Given the description of an element on the screen output the (x, y) to click on. 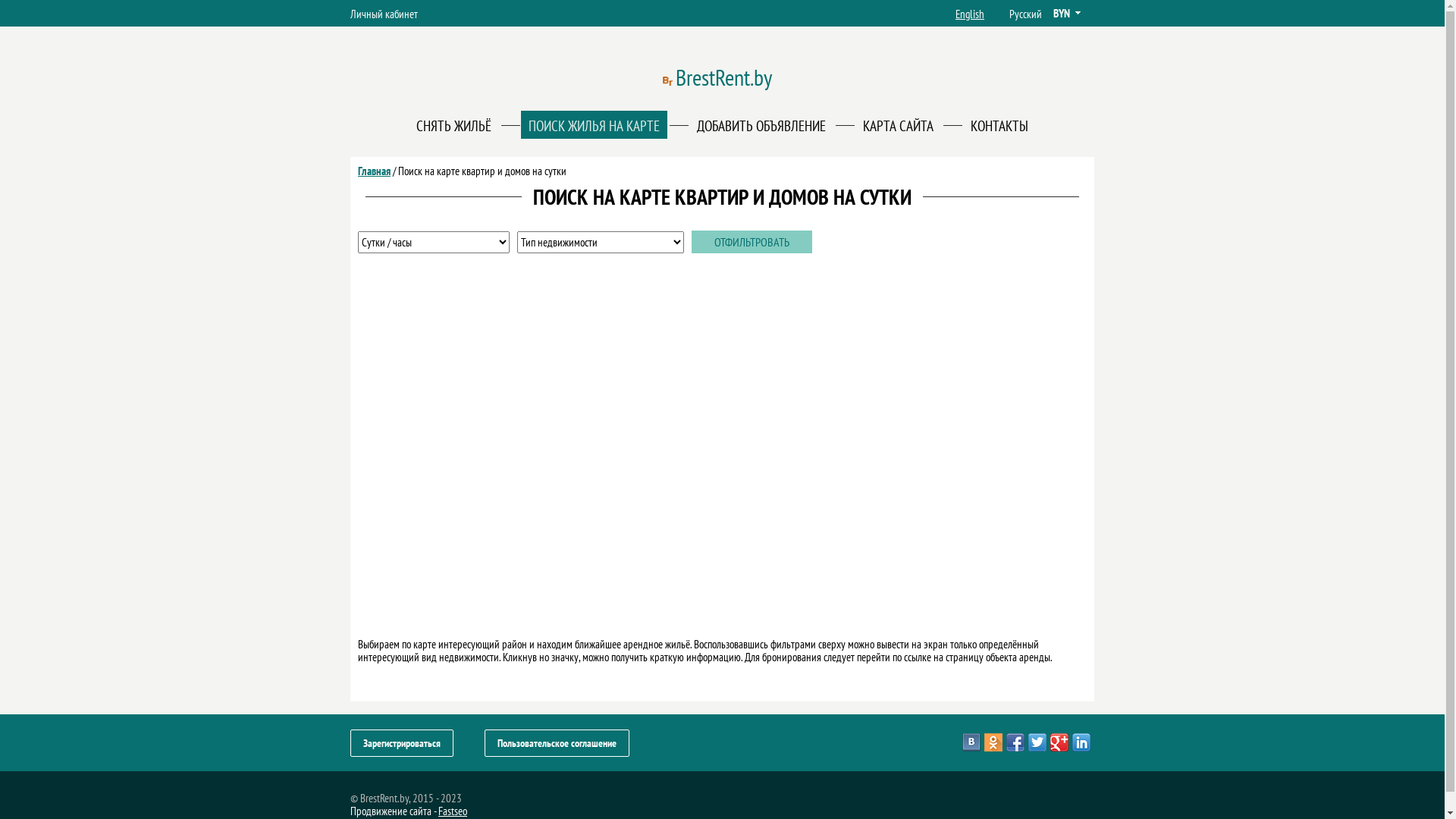
Fastseo Element type: text (452, 810)
BrestRent.by Element type: text (723, 72)
English Element type: text (969, 13)
